Given the description of an element on the screen output the (x, y) to click on. 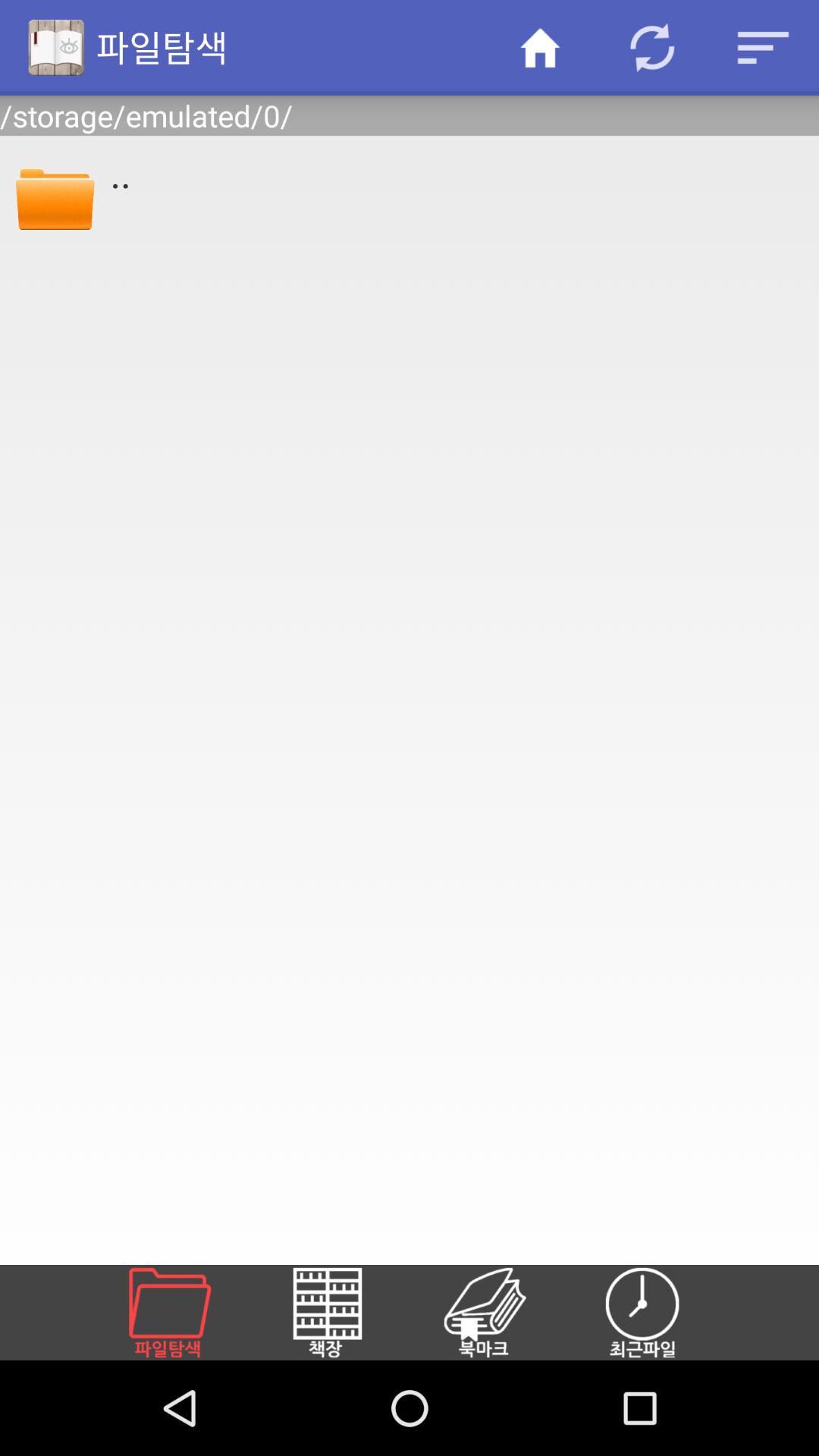
turn off app below /storage/emulated/0/ (454, 172)
